Given the description of an element on the screen output the (x, y) to click on. 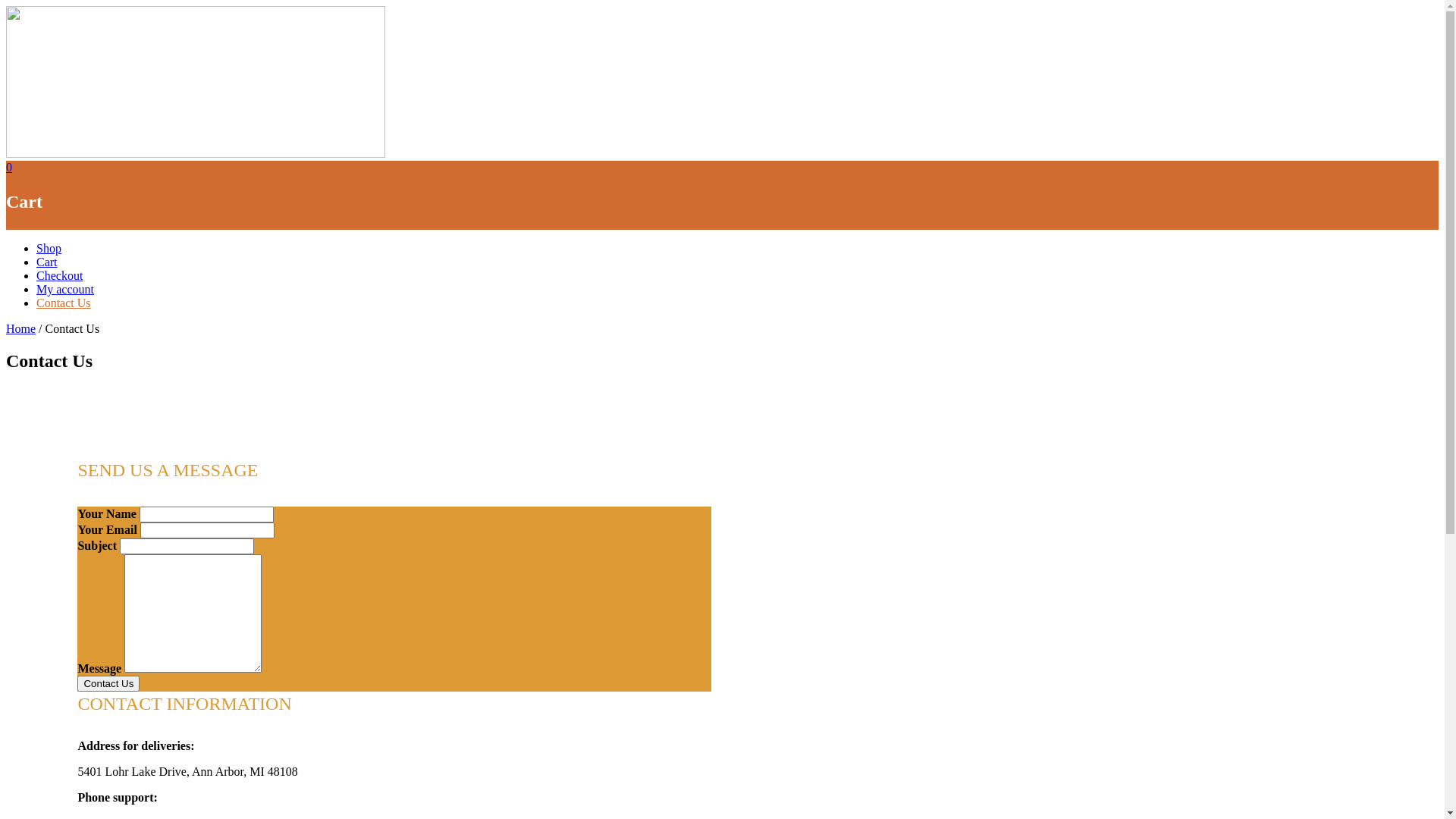
Contact Us Element type: text (63, 302)
Shop Element type: text (48, 247)
My account Element type: text (65, 288)
Contact Us Element type: text (108, 683)
Cart Element type: text (46, 261)
Checkout Element type: text (59, 275)
0 Element type: text (9, 166)
Home Element type: text (20, 328)
Skip to content Element type: text (5, 5)
